Given the description of an element on the screen output the (x, y) to click on. 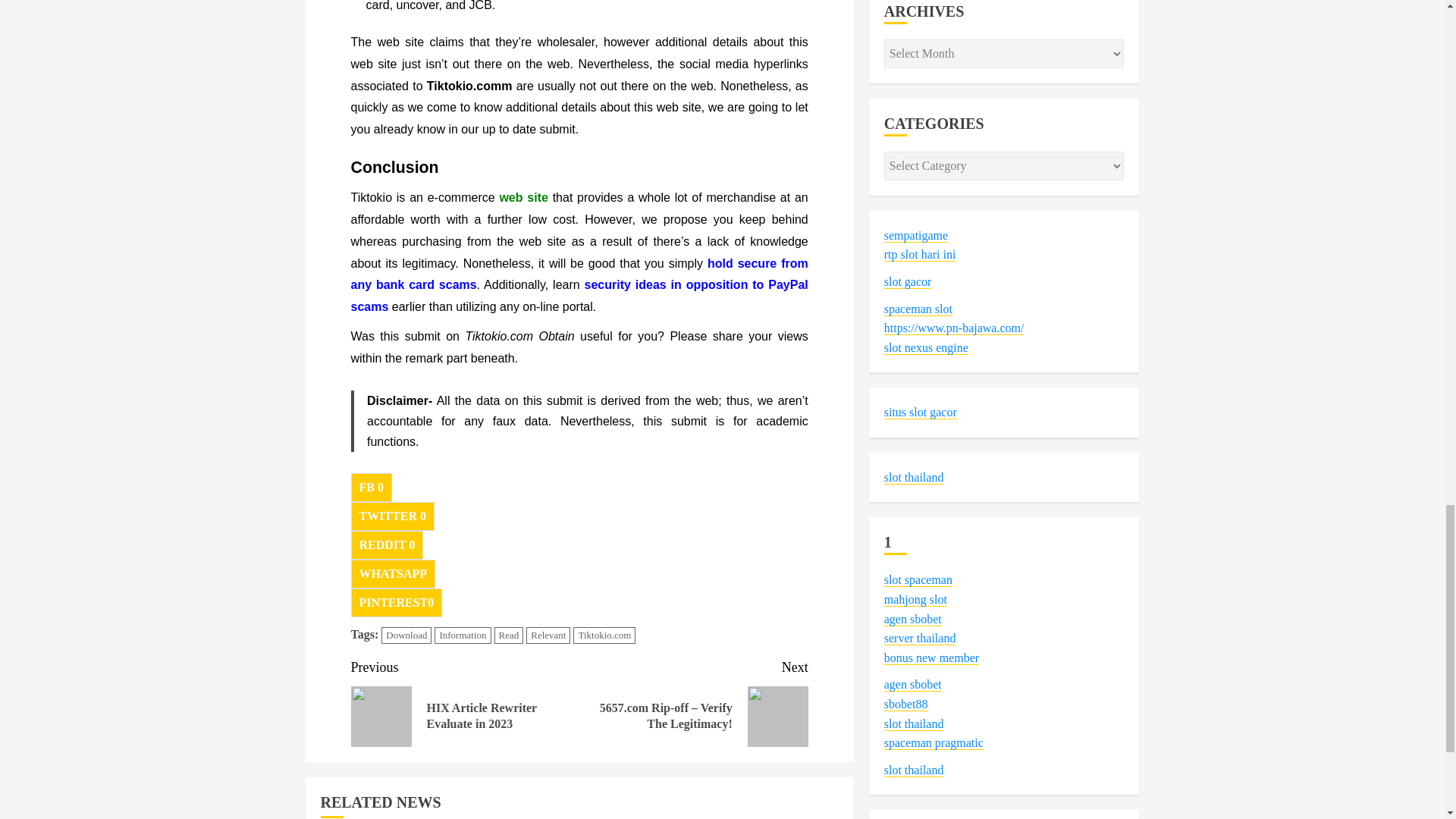
Information (461, 635)
Download (405, 635)
WHATSAPP (391, 573)
Read (509, 635)
PINTEREST0 (396, 602)
Tiktokio.com (603, 635)
REDDIT 0 (386, 544)
TWITTER 0 (391, 516)
Relevant (547, 635)
FB 0 (370, 487)
